Given the description of an element on the screen output the (x, y) to click on. 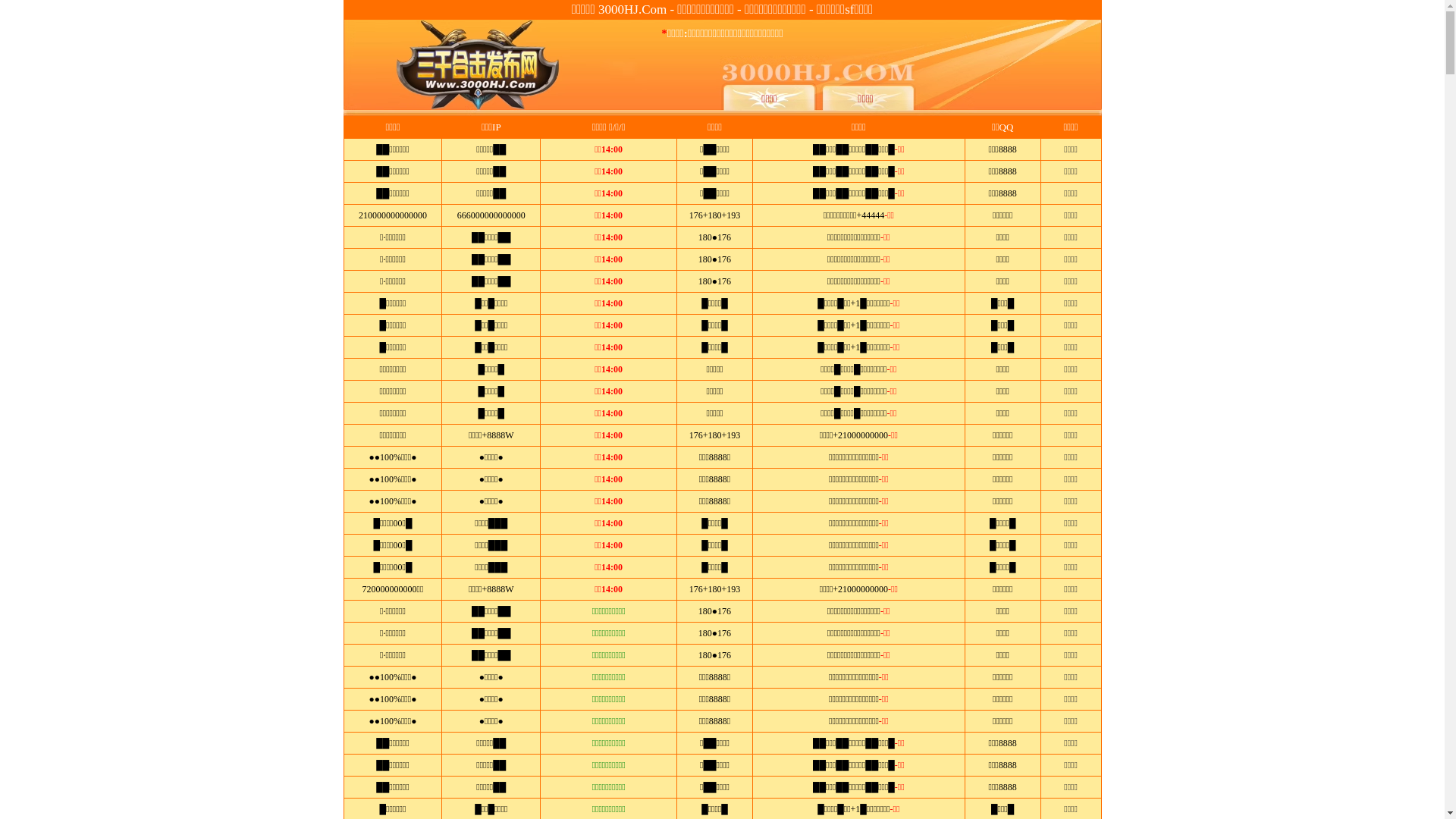
210000000000000 Element type: text (392, 215)
666000000000000 Element type: text (491, 215)
